Given the description of an element on the screen output the (x, y) to click on. 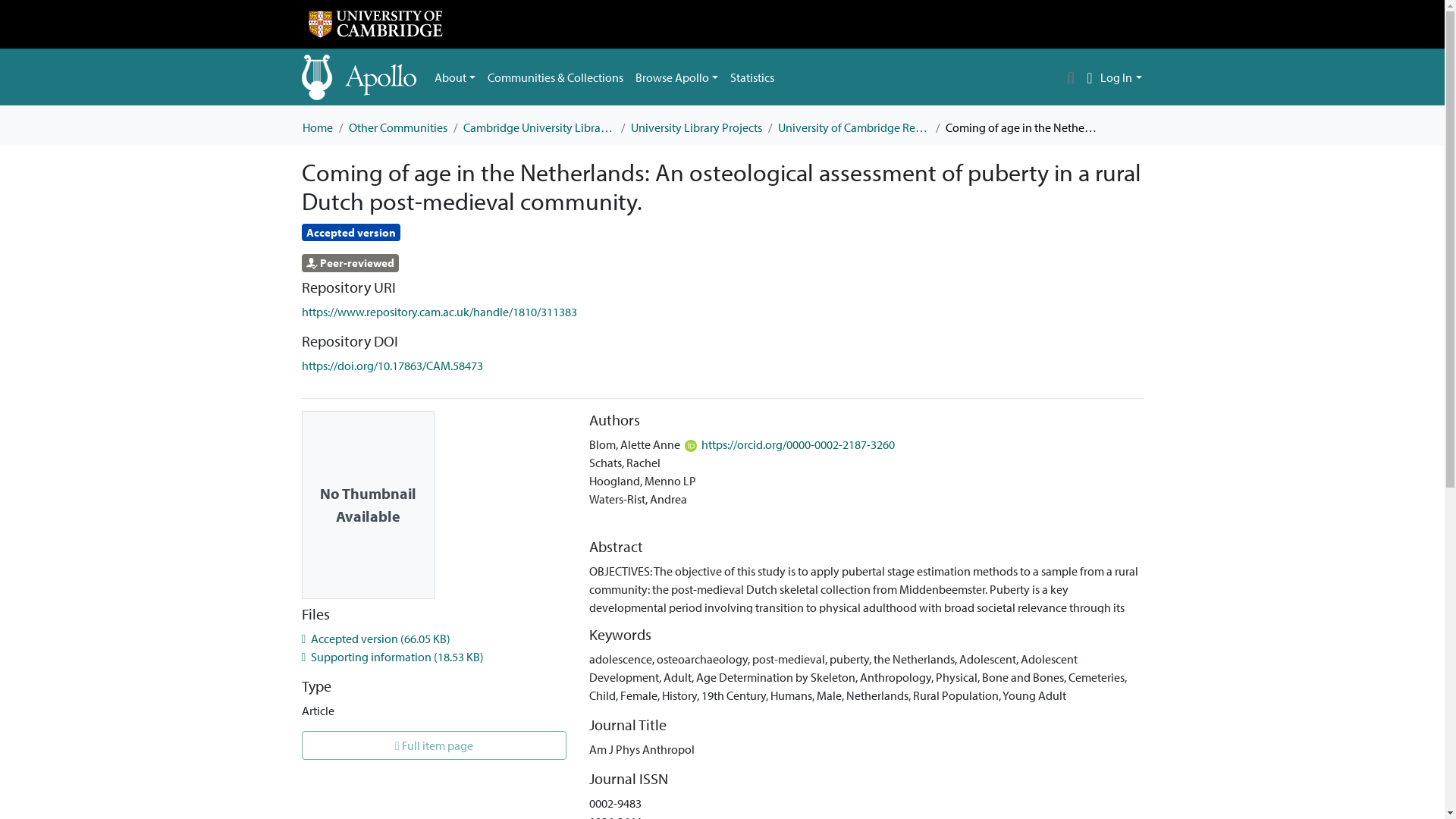
Search (1070, 76)
Home (316, 126)
Log In (1120, 77)
University Library Projects (695, 126)
Browse Apollo (675, 77)
Statistics (751, 77)
Language switch (1089, 76)
About (454, 77)
Full item page (434, 745)
Cambridge University Libraries (538, 126)
